Given the description of an element on the screen output the (x, y) to click on. 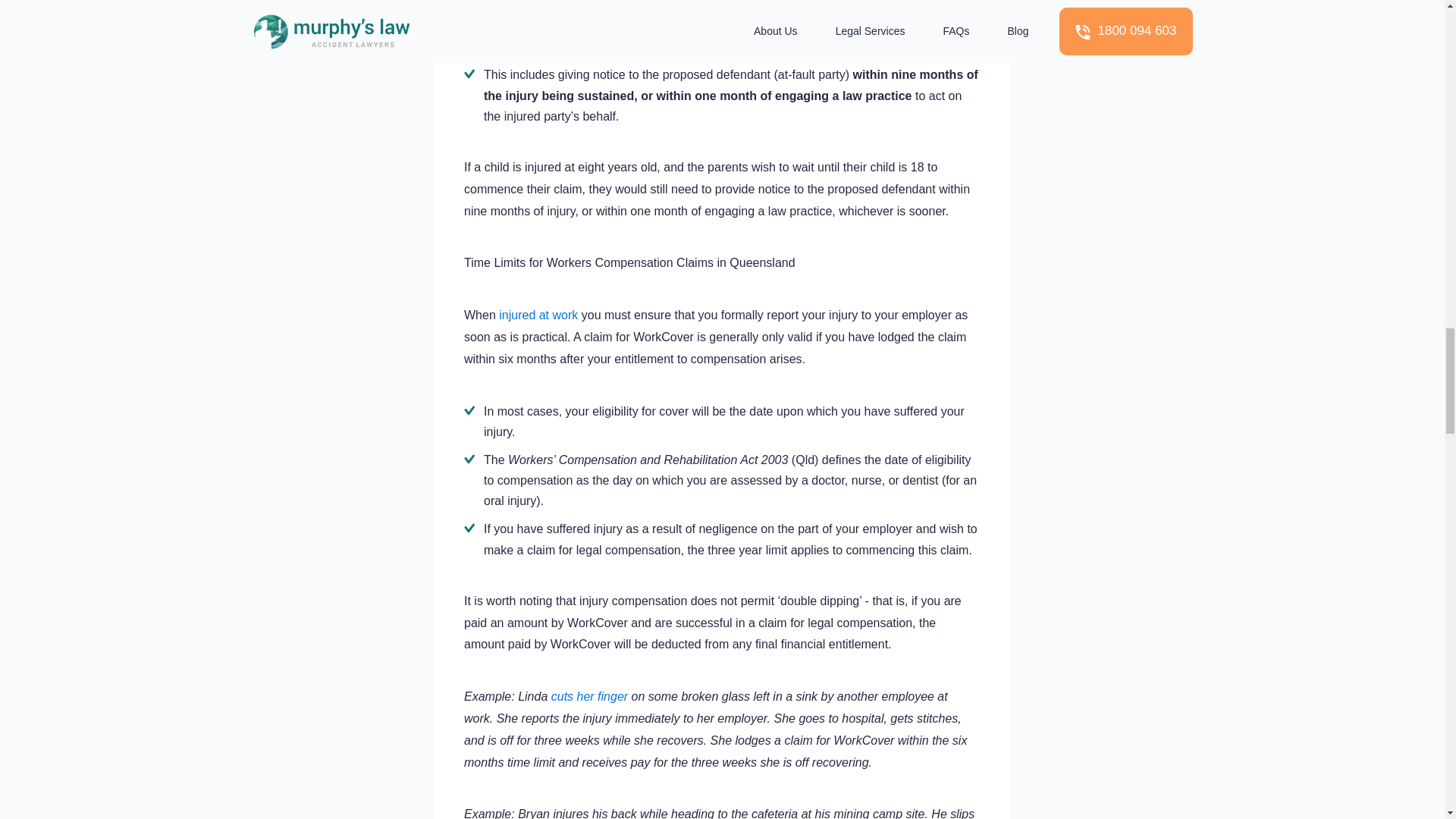
injured at work (537, 314)
cuts her finger (589, 696)
